Given the description of an element on the screen output the (x, y) to click on. 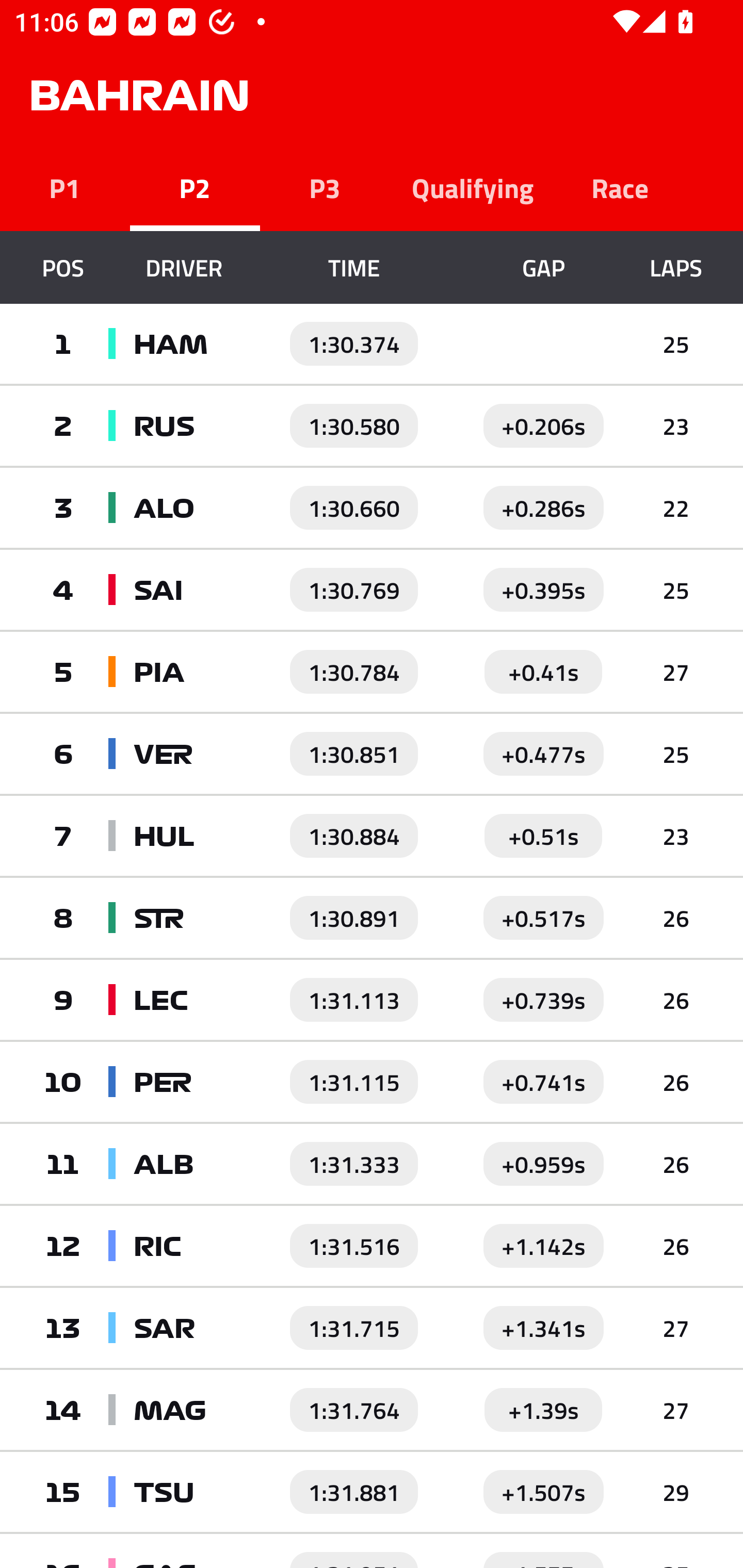
P1 (65, 187)
P3 (325, 187)
Qualifying (472, 187)
Race (620, 187)
